Given the description of an element on the screen output the (x, y) to click on. 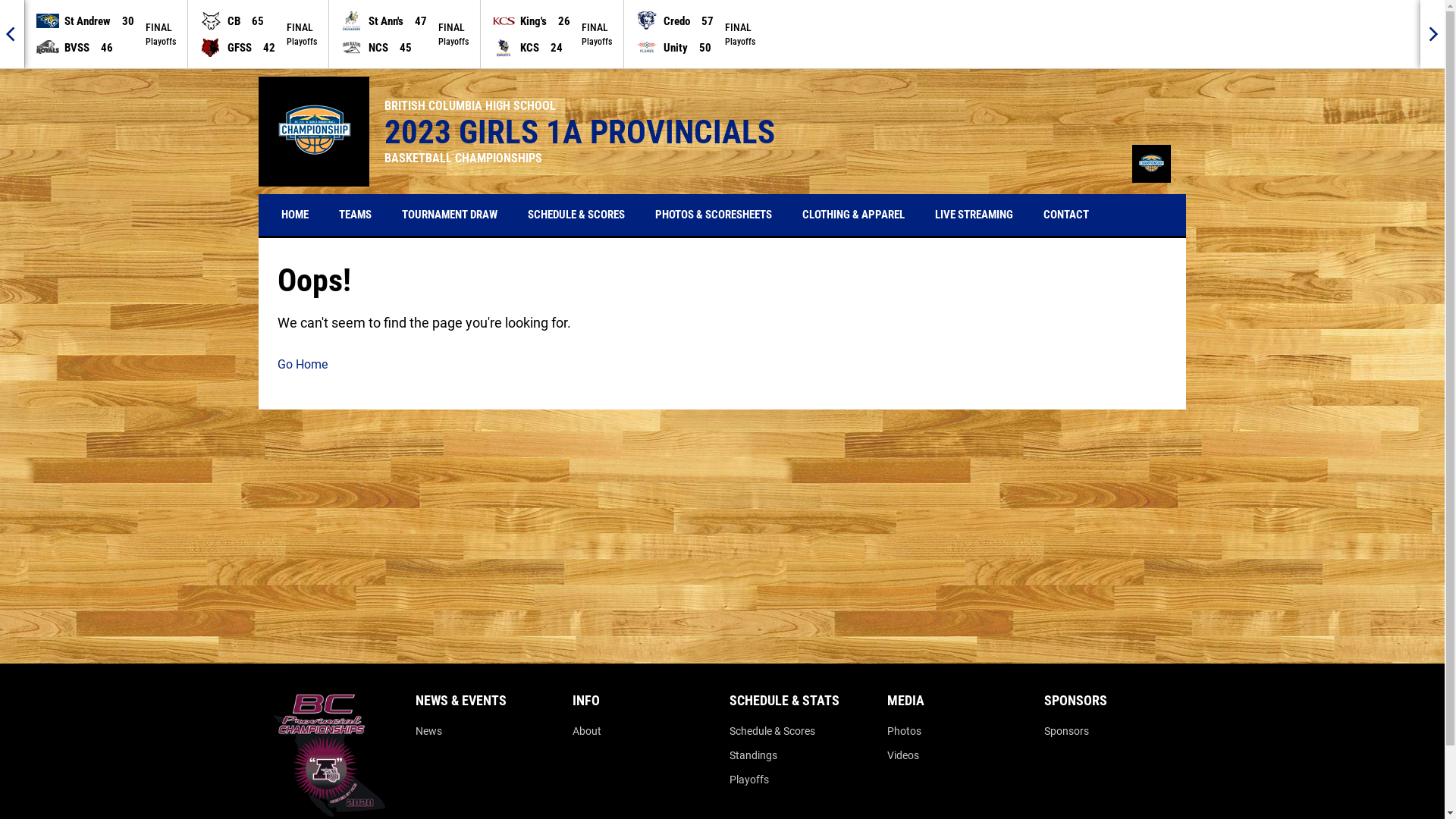
TOURNAMENT DRAW Element type: text (449, 214)
CONTACT Element type: text (1066, 214)
Photos Element type: text (904, 730)
News Element type: text (428, 730)
Standings Element type: text (753, 755)
Videos Element type: text (903, 755)
CLOTHING & APPAREL Element type: text (853, 214)
Schedule & Scores Element type: text (772, 730)
SCHEDULE & SCORES Element type: text (576, 214)
TEAMS Element type: text (354, 214)
Sponsors Element type: text (1066, 730)
Go Home Element type: text (722, 364)
LIVE STREAMING Element type: text (973, 214)
About Element type: text (586, 730)
Playoffs Element type: text (748, 779)
PHOTOS & SCORESHEETS Element type: text (713, 214)
HOME Element type: text (294, 214)
